Given the description of an element on the screen output the (x, y) to click on. 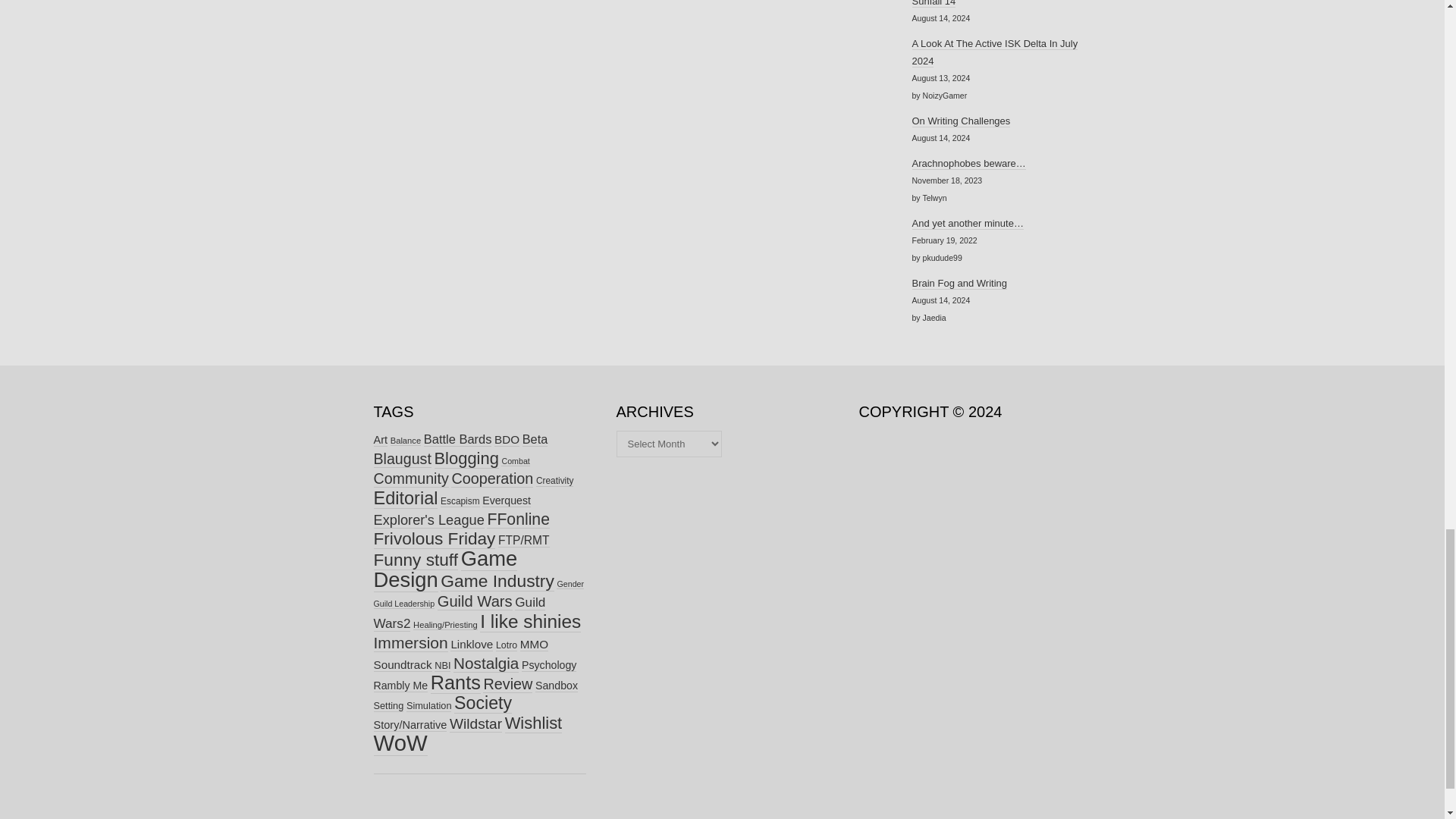
On Writing Challenges (960, 121)
A Look At The Active ISK Delta In July 2024 (994, 52)
Art (379, 440)
Brain Fog and Writing (959, 283)
